Given the description of an element on the screen output the (x, y) to click on. 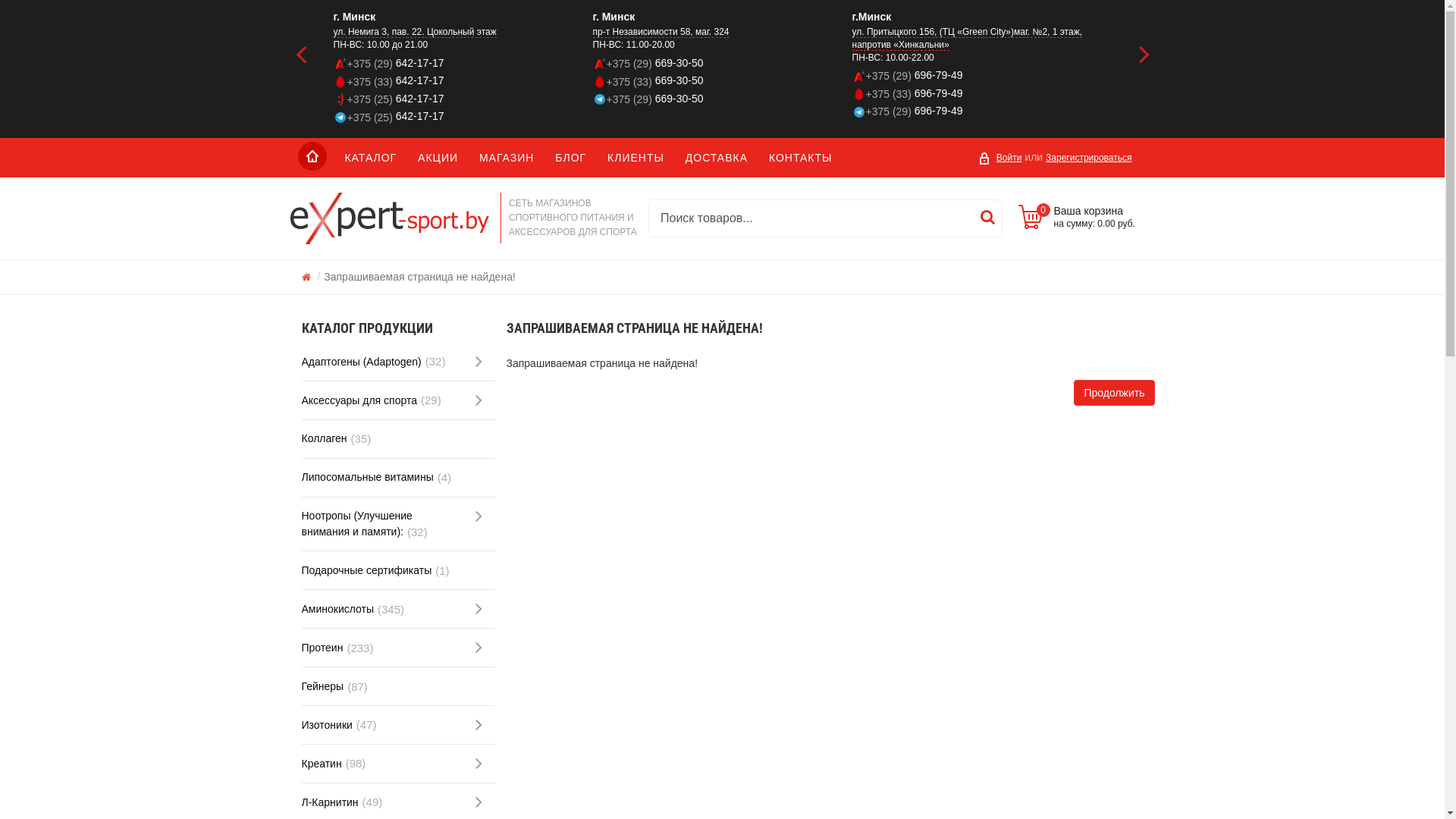
+375 (29) 696-79-49 Element type: text (981, 75)
+375 (29) 669-30-50 Element type: text (722, 63)
+375 (33) 642-17-17 Element type: text (463, 80)
+375 (33) 669-30-50 Element type: text (722, 80)
+375 (25) 642-17-17 Element type: text (463, 98)
+375 (33) 696-79-49 Element type: text (981, 93)
+375 (29) 642-17-17 Element type: text (463, 63)
+375 (25) 642-17-17 Element type: text (463, 116)
+375 (29) 696-79-49 Element type: text (981, 110)
+375 (29) 669-30-50 Element type: text (722, 98)
